Given the description of an element on the screen output the (x, y) to click on. 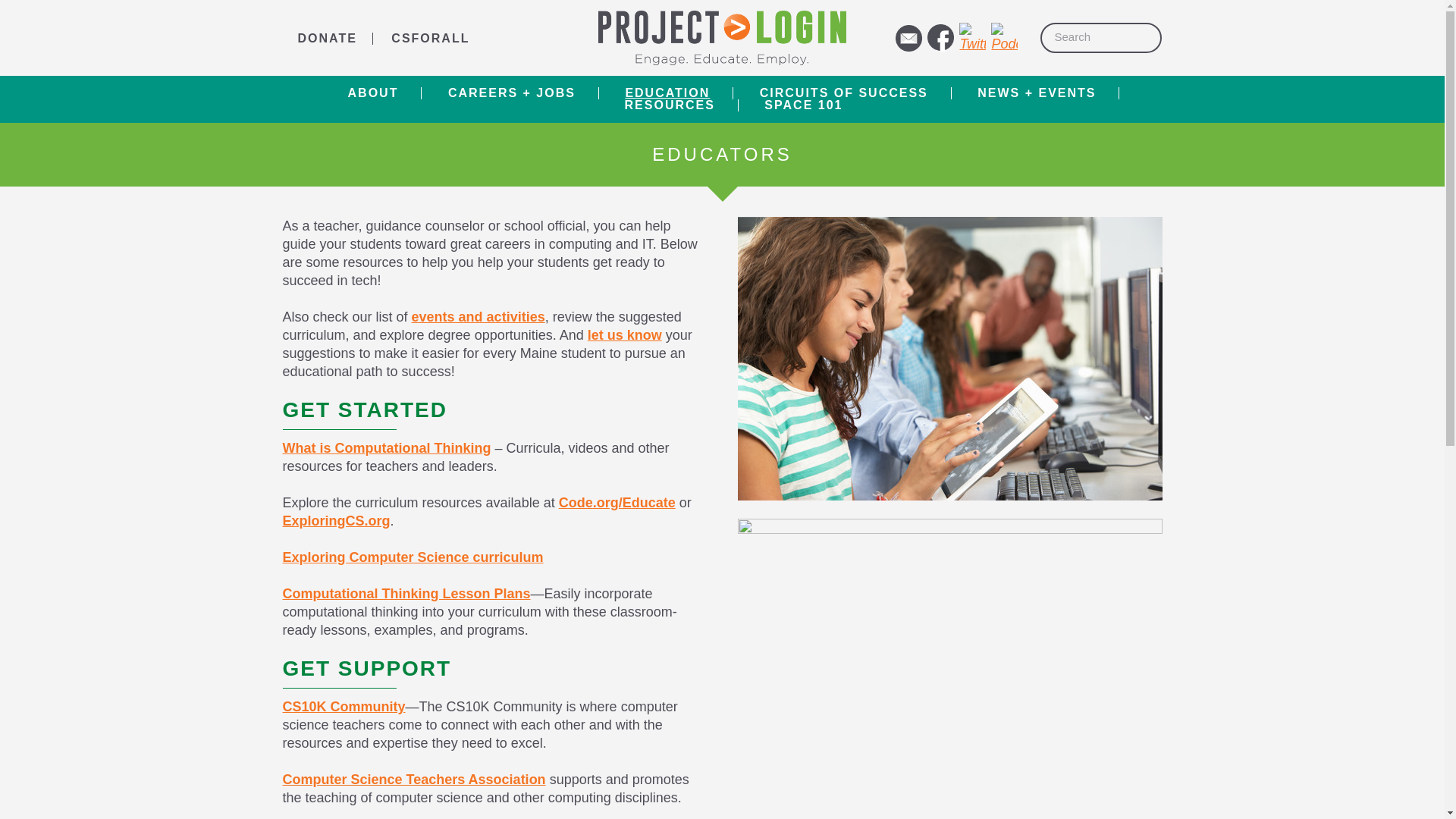
CSFORALL (429, 38)
RESOURCES (670, 105)
CS10K Community (343, 706)
let us know (625, 335)
events and activities (478, 316)
DONATE (326, 38)
CIRCUITS OF SUCCESS (843, 92)
Exploring Computer Science curriculum (412, 557)
Computational Thinking Lesson Plans (405, 593)
SPACE 101 (792, 105)
ABOUT (373, 92)
EDUCATION (667, 92)
What is Computational Thinking (386, 447)
ExploringCS.org (336, 520)
